Given the description of an element on the screen output the (x, y) to click on. 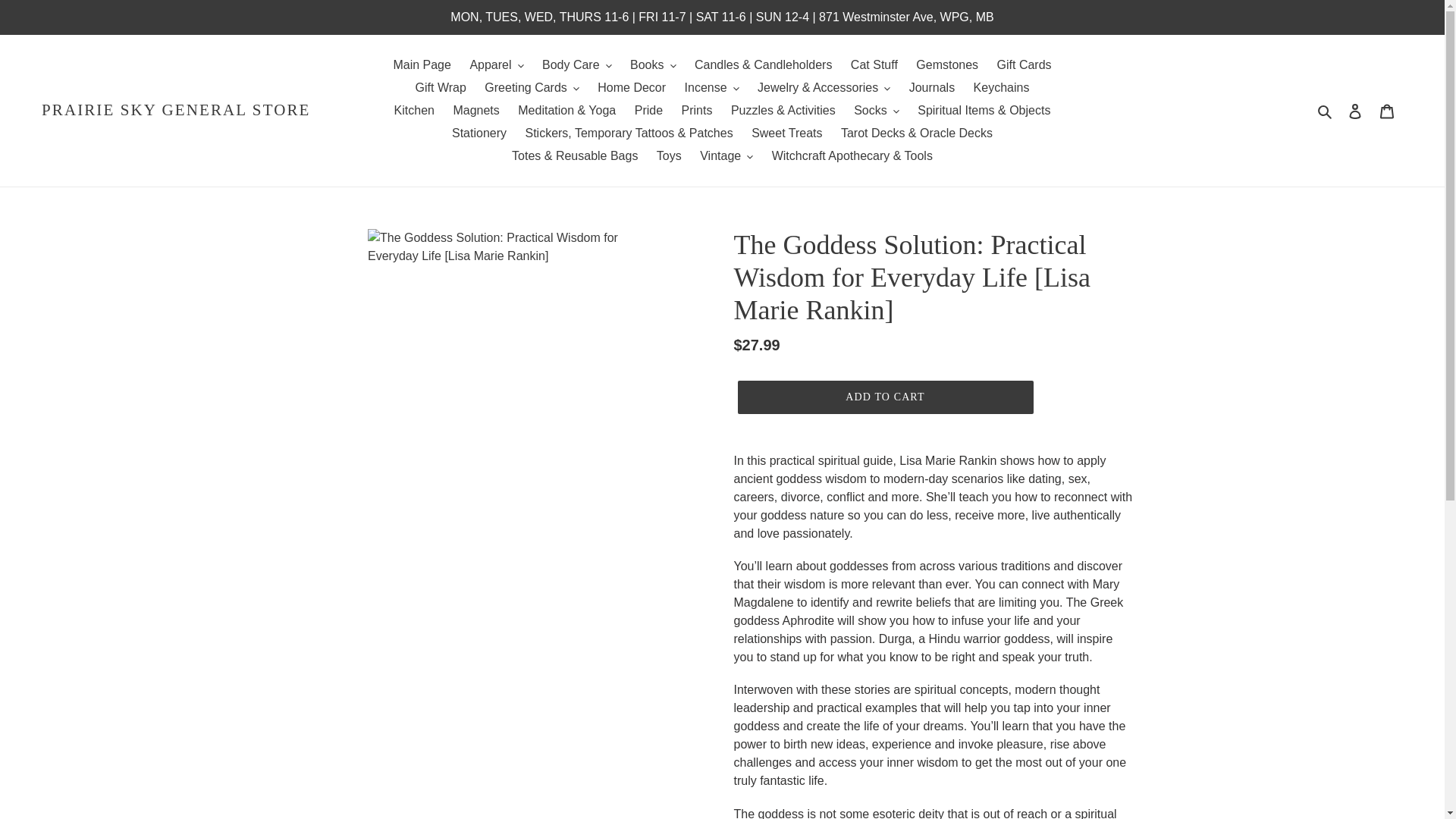
Apparel (496, 65)
Books (652, 65)
PRAIRIE SKY GENERAL STORE (176, 109)
Body Care (577, 65)
Main Page (421, 65)
